Given the description of an element on the screen output the (x, y) to click on. 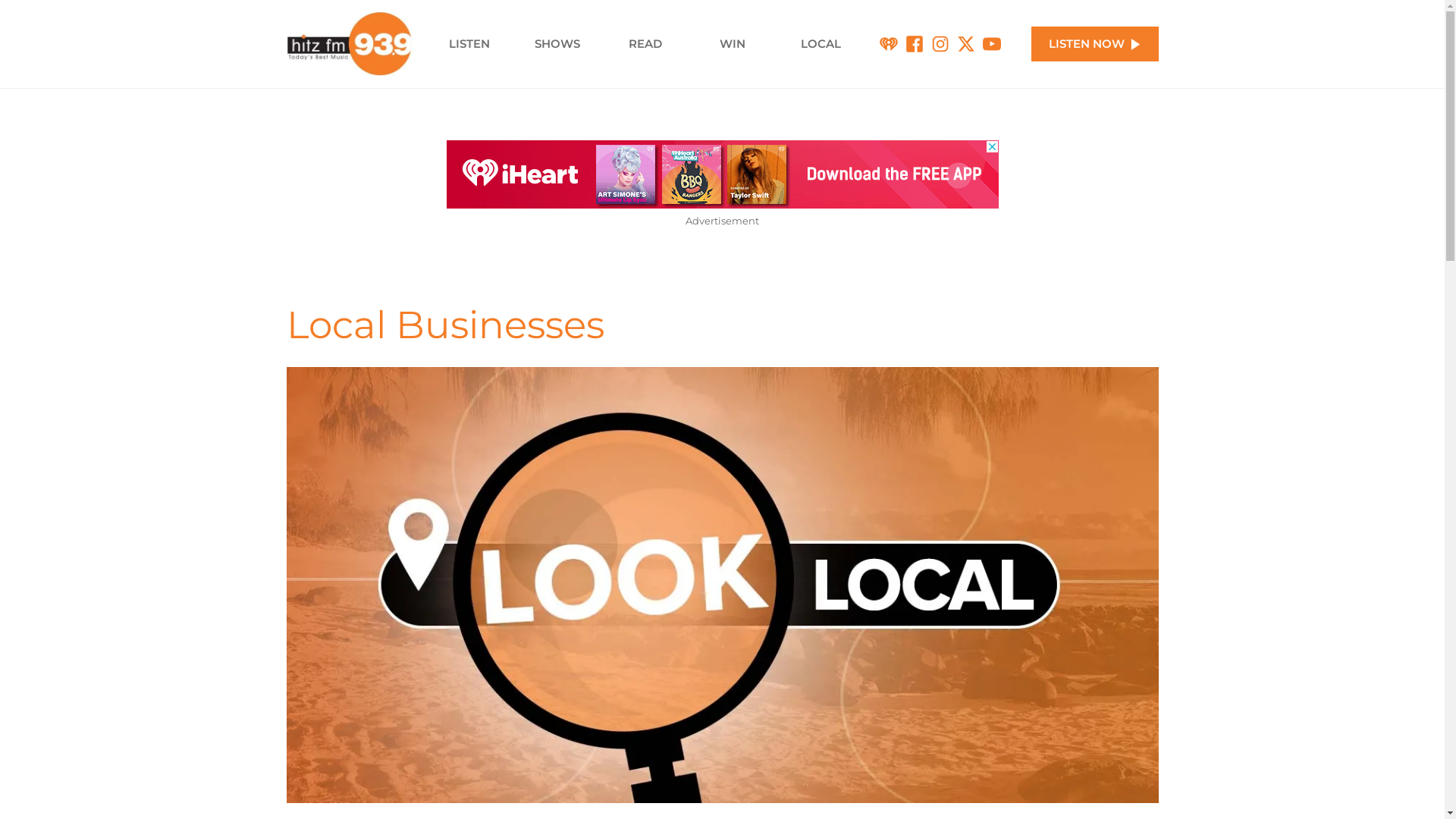
WIN Element type: text (733, 43)
SHOWS Element type: text (557, 43)
Twitter/X Element type: text (966, 43)
LOCAL Element type: text (820, 43)
Facebook Element type: text (914, 43)
YouTube Element type: text (991, 43)
LISTEN NOW Element type: text (1094, 44)
iHeart Element type: text (888, 43)
Instagram Element type: text (940, 43)
LISTEN Element type: text (469, 43)
READ Element type: text (645, 43)
3rd party ad content Element type: hover (721, 174)
